Given the description of an element on the screen output the (x, y) to click on. 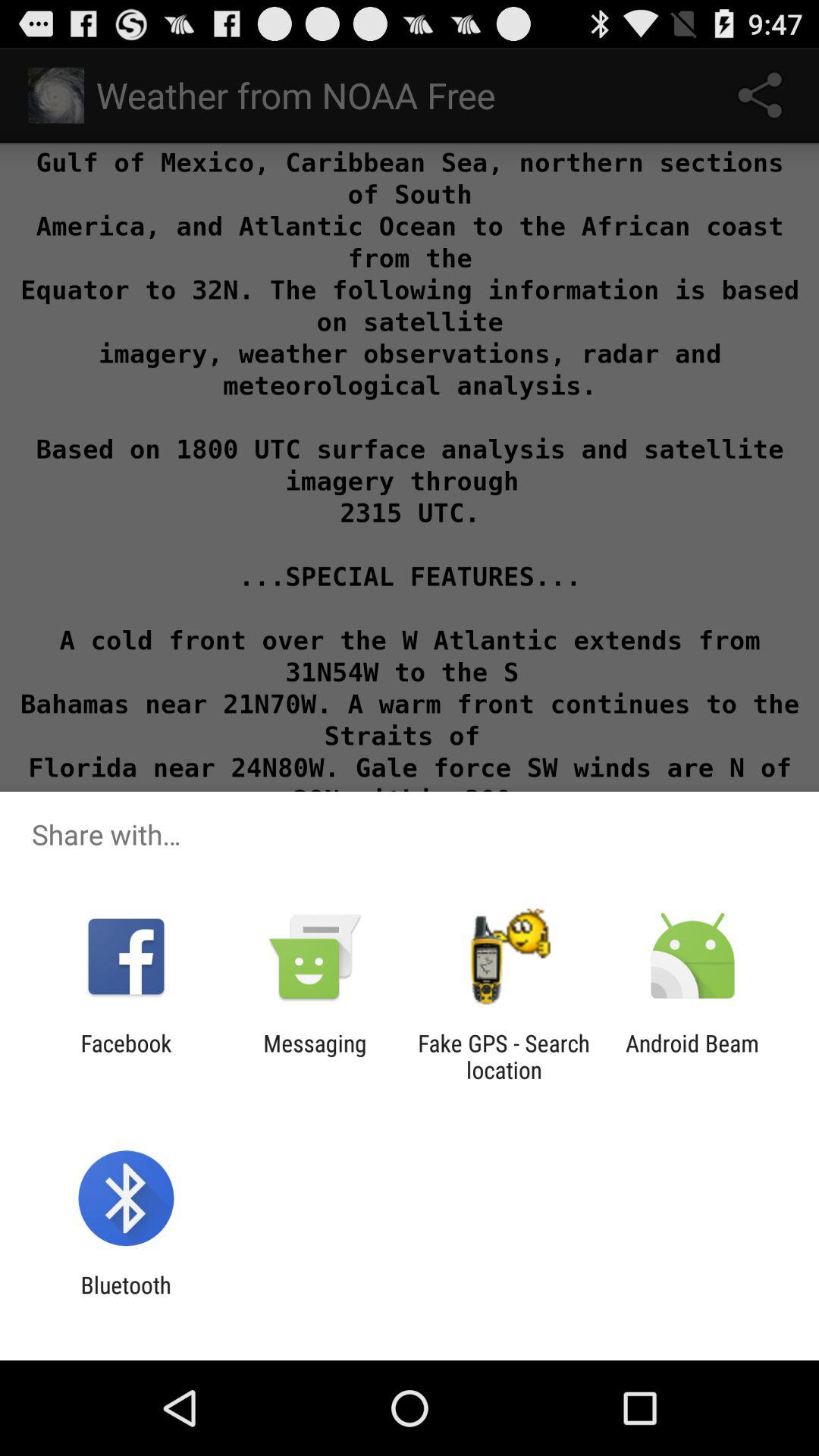
press app next to the fake gps search (314, 1056)
